Given the description of an element on the screen output the (x, y) to click on. 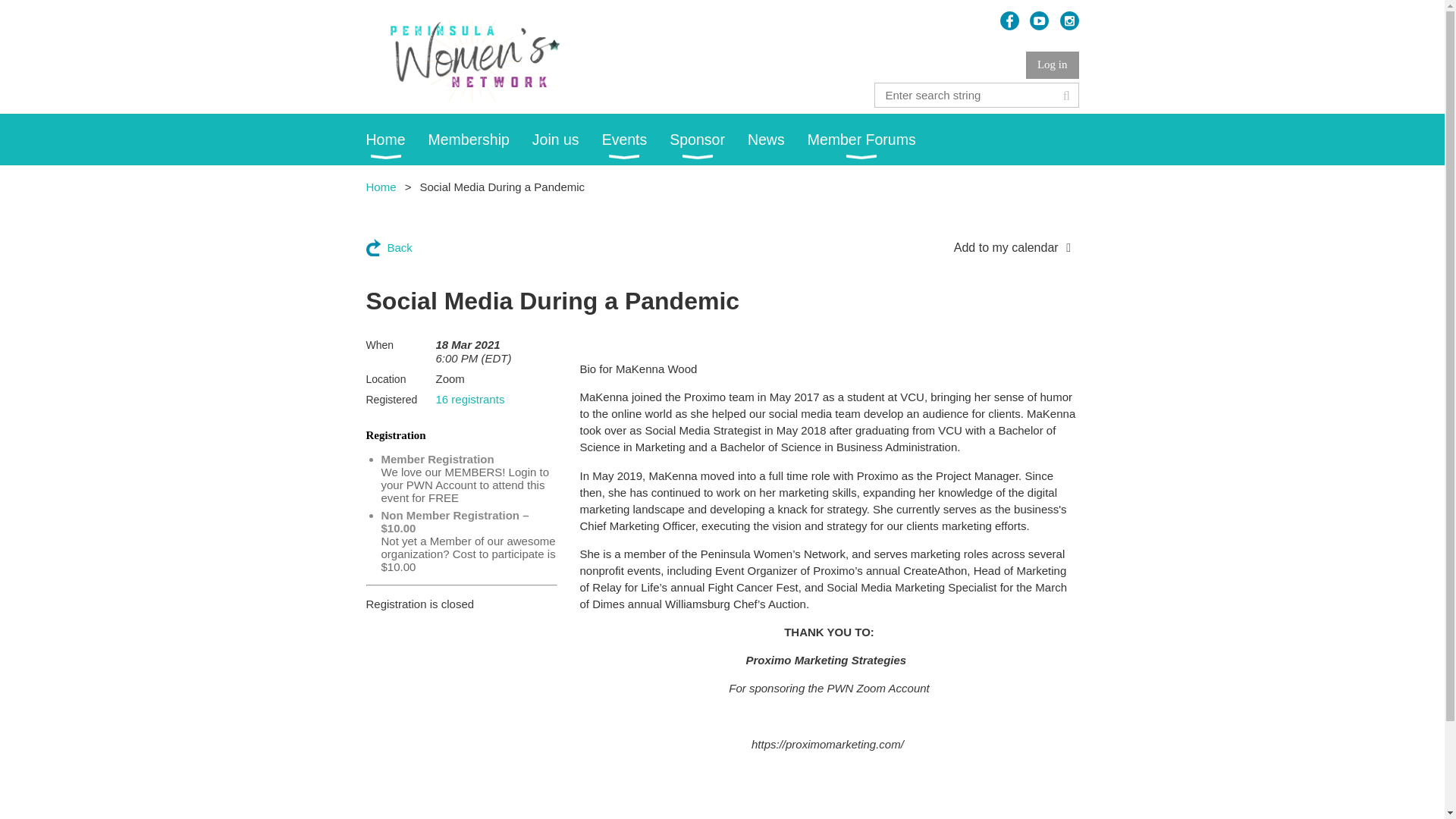
Member Forums (873, 139)
News (778, 139)
16 registrants (469, 399)
Facebook (1009, 20)
Home (396, 139)
Log in (1052, 64)
Membership (480, 139)
News (778, 139)
Join us (567, 139)
Membership (480, 139)
